Given the description of an element on the screen output the (x, y) to click on. 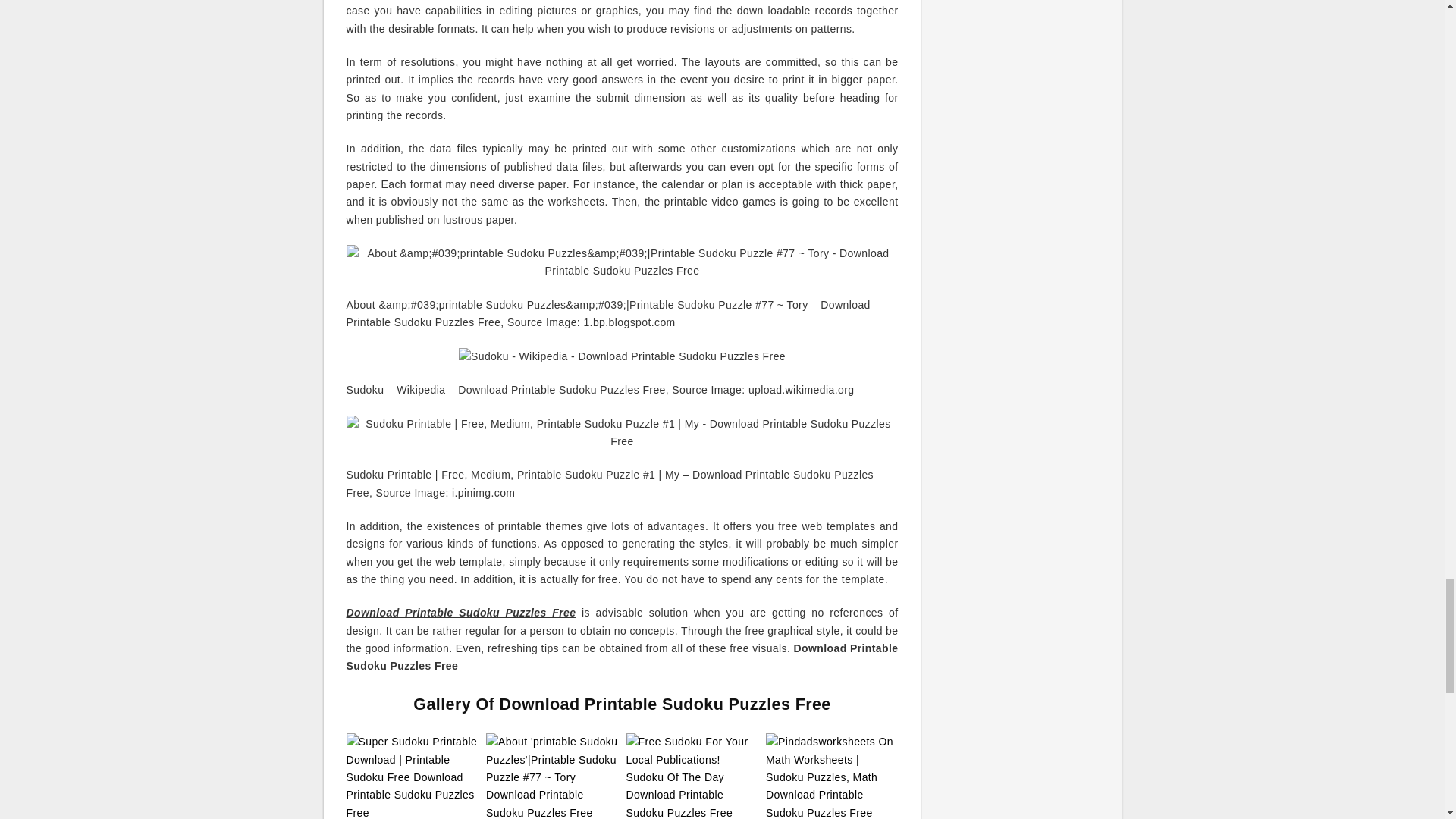
sudoku wikipedia download printable sudoku puzzles free (622, 356)
